Given the description of an element on the screen output the (x, y) to click on. 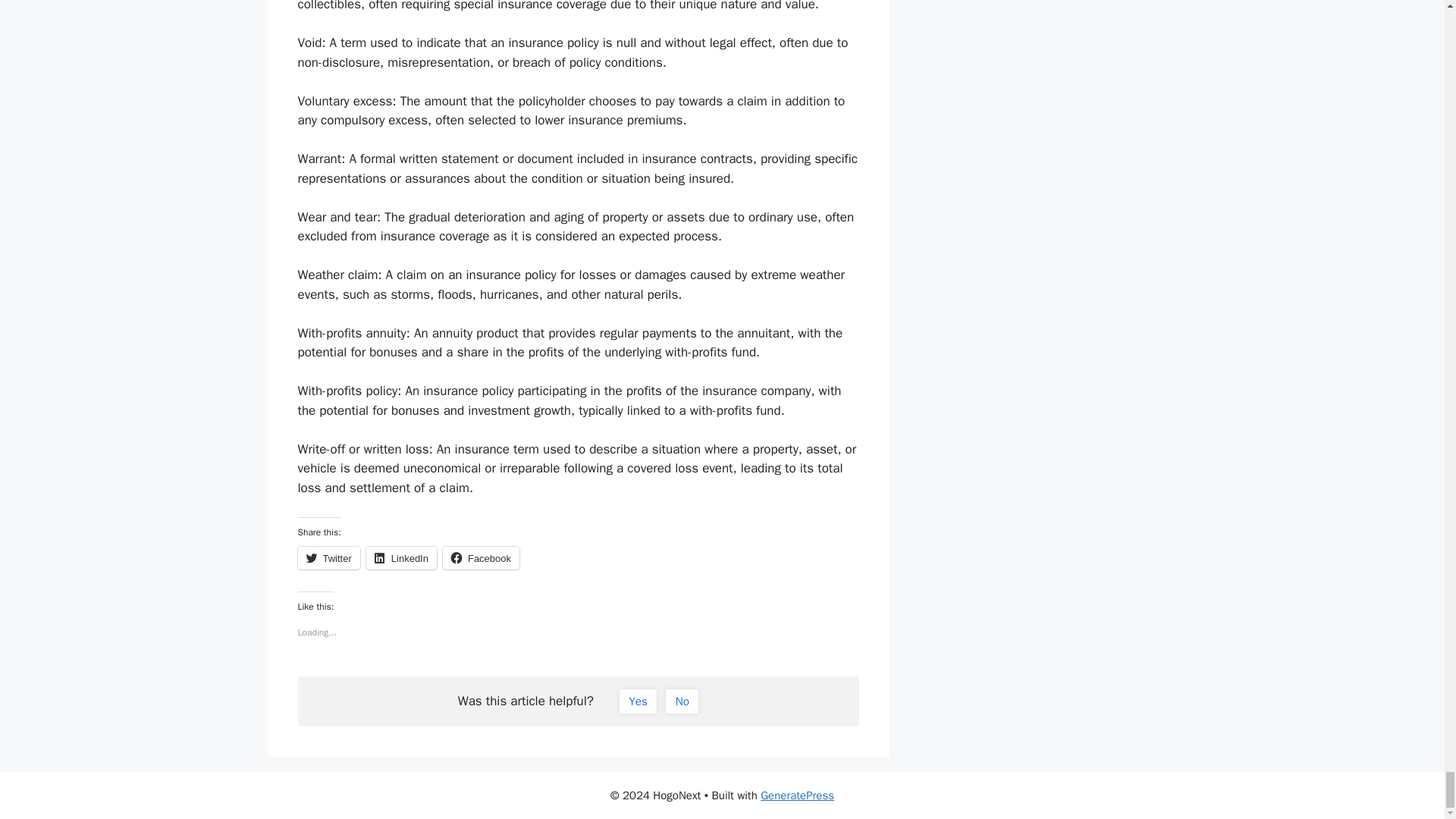
Click to share on Facebook (480, 558)
Click to share on Twitter (328, 558)
Twitter (328, 558)
Facebook (480, 558)
LinkedIn (401, 558)
Click to share on LinkedIn (401, 558)
